Given the description of an element on the screen output the (x, y) to click on. 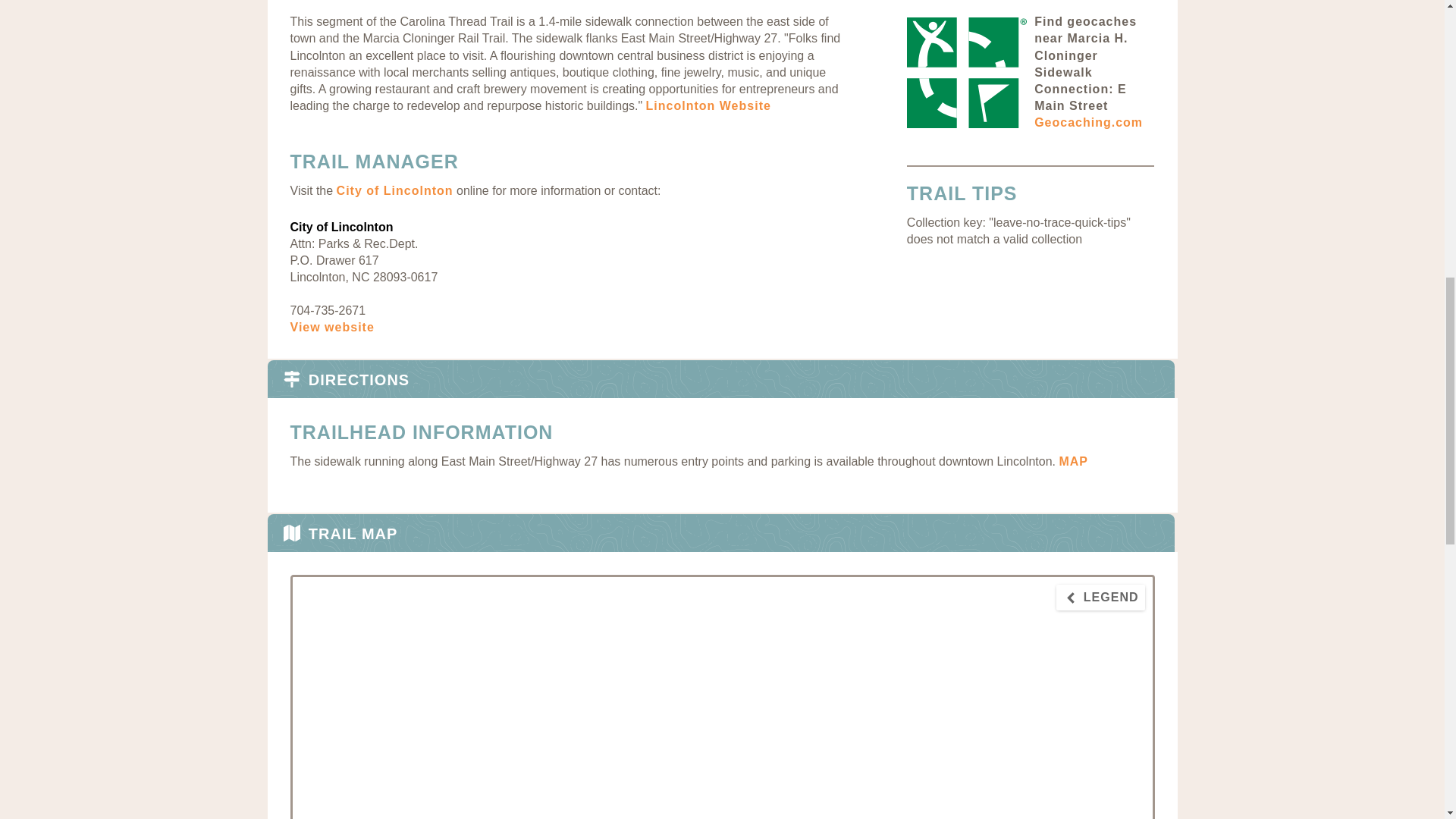
Nearby Geocaches (1087, 122)
Nearby Geocaches (1085, 63)
Nearby Geocaches (966, 71)
